Given the description of an element on the screen output the (x, y) to click on. 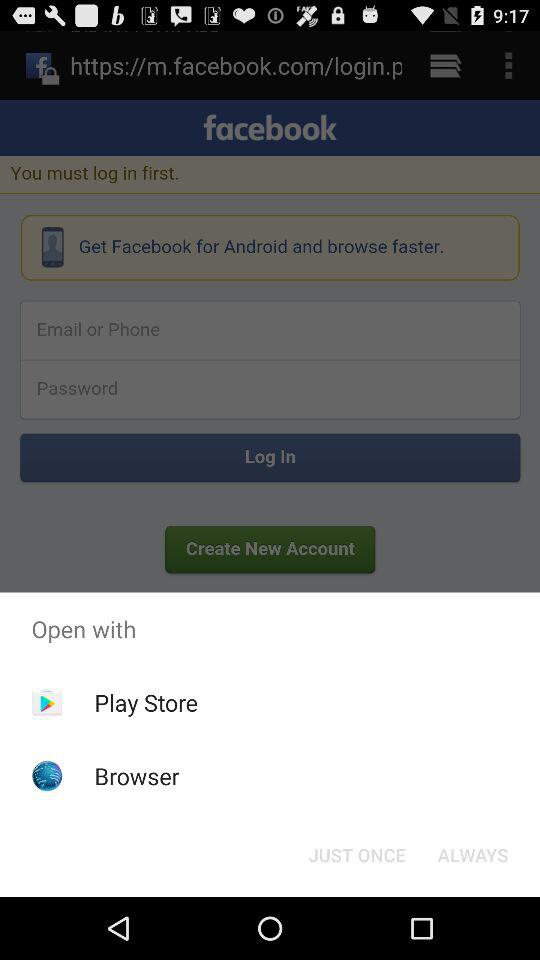
turn off the button next to the just once button (472, 854)
